Given the description of an element on the screen output the (x, y) to click on. 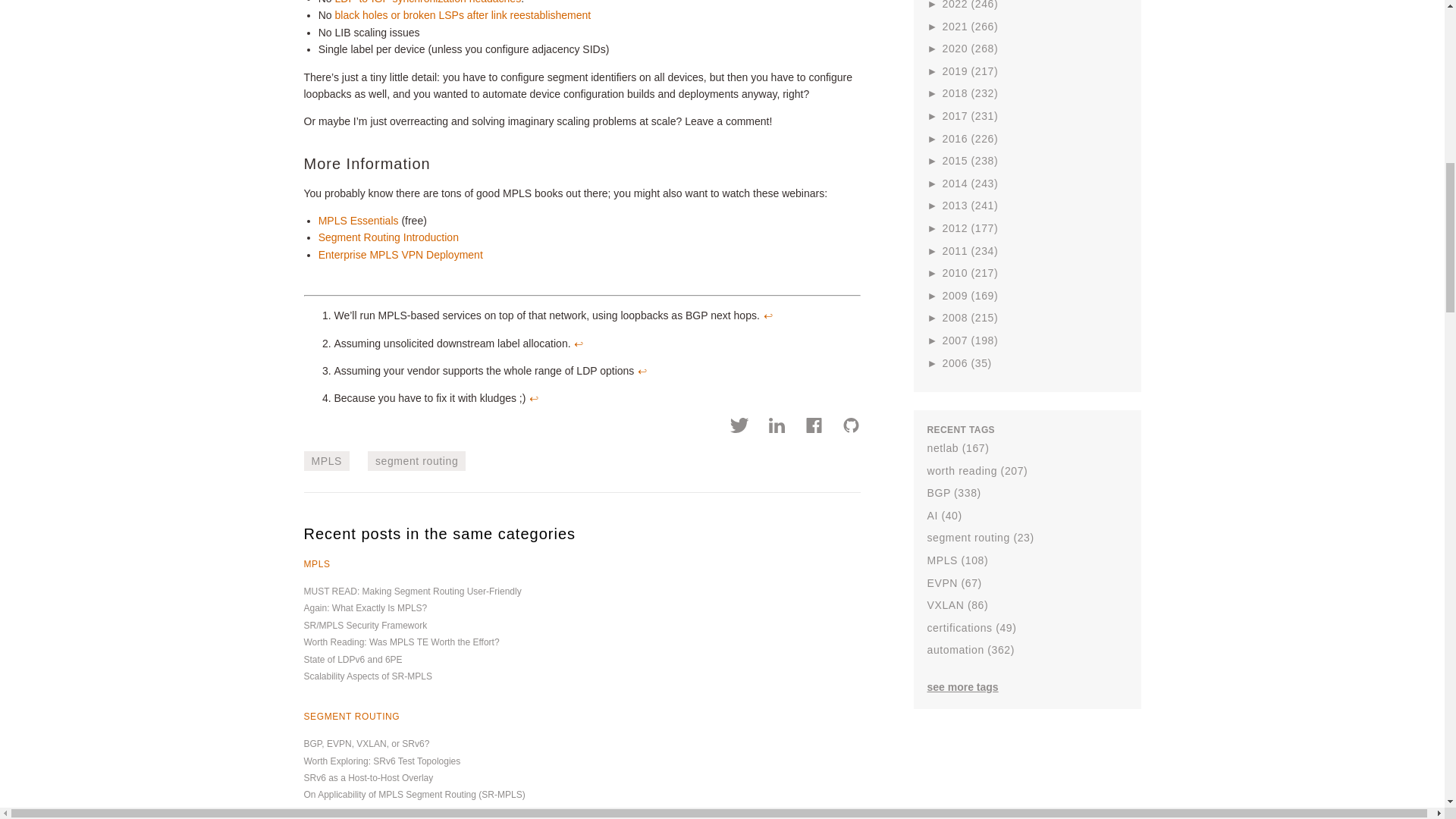
GitHub Source (850, 427)
Share to Facebook (814, 427)
black holes or broken LSPs after link reestablishement (462, 15)
Share to Twitter (739, 427)
LDP-to-IGP synchronization headaches (427, 2)
Share to LinkedIn (776, 427)
MPLS Essentials (358, 220)
